Given the description of an element on the screen output the (x, y) to click on. 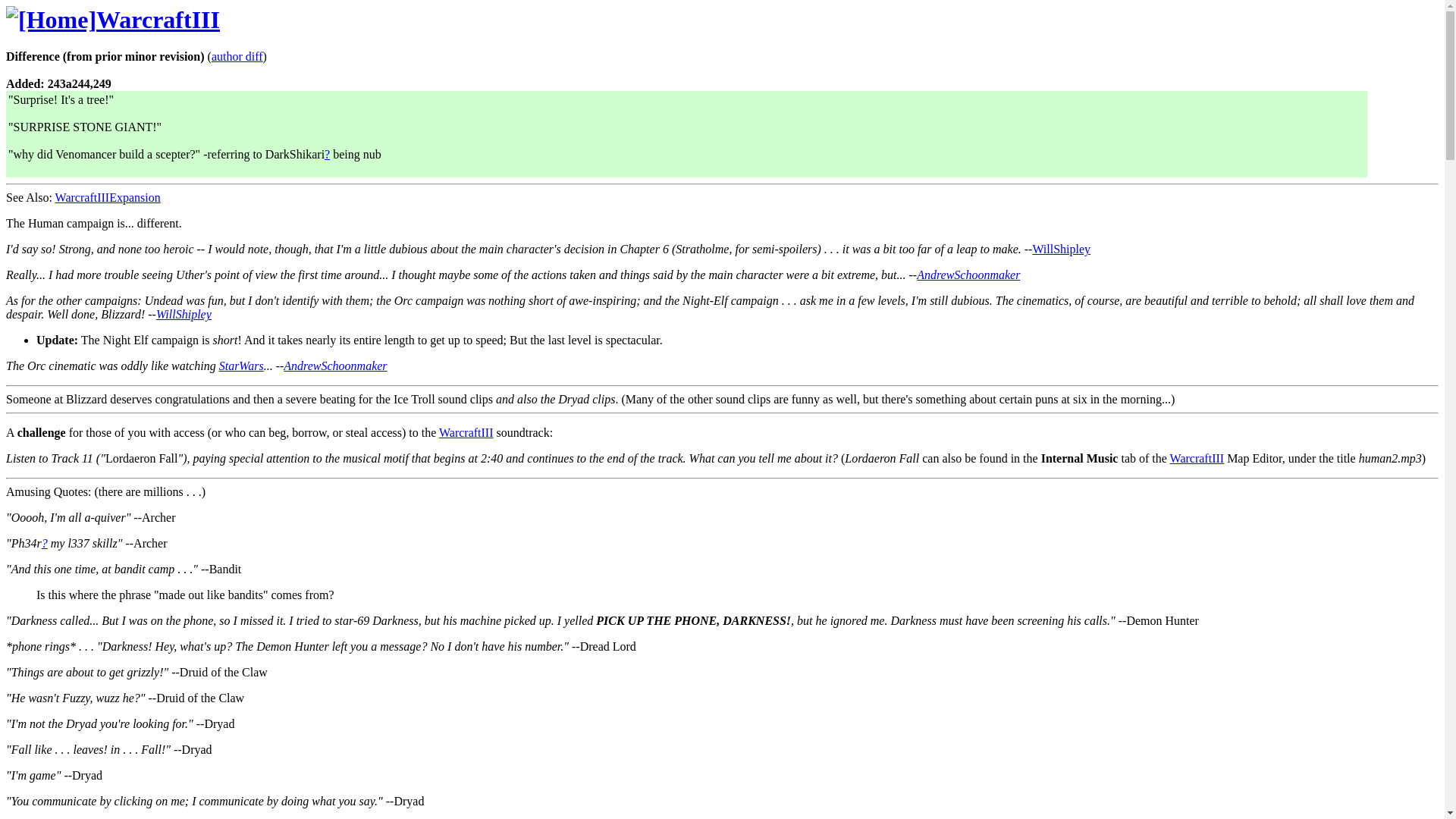
AndrewSchoonmaker (968, 274)
? (327, 154)
author diff (237, 56)
WarcraftIII (466, 431)
? (45, 543)
StarWars (241, 365)
WillShipley (1061, 248)
AndrewSchoonmaker (335, 365)
WarcraftIII (1197, 458)
WillShipley (183, 314)
WarcraftIII (157, 19)
WarcraftIIIExpansion (107, 196)
